Given the description of an element on the screen output the (x, y) to click on. 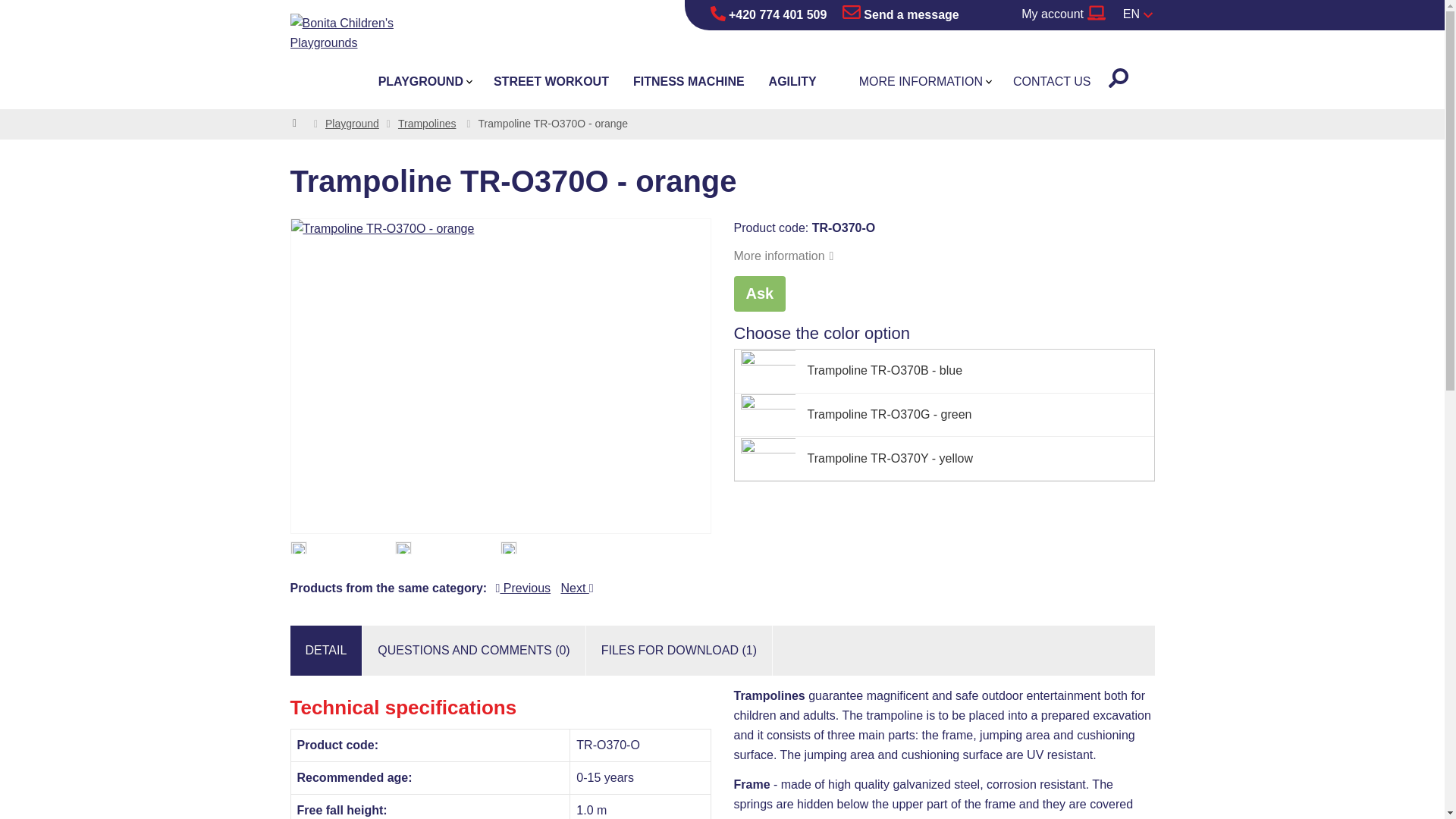
Playground (351, 123)
Next (576, 587)
Trampoline TR-O370B - blue (943, 371)
Trampoline TR-O370O - orange (508, 547)
Trampoline TR-O370G - green (943, 415)
More information (783, 255)
Trampoline TR-O370O - orange (297, 547)
EN (1137, 15)
Bonita Children's Playgrounds - Skip to the page menu (365, 36)
Ask (759, 294)
Previous (523, 587)
Trampoline TR-O370O - orange (499, 376)
Send a message (901, 15)
Trampolines (427, 123)
DETAIL (325, 650)
